Given the description of an element on the screen output the (x, y) to click on. 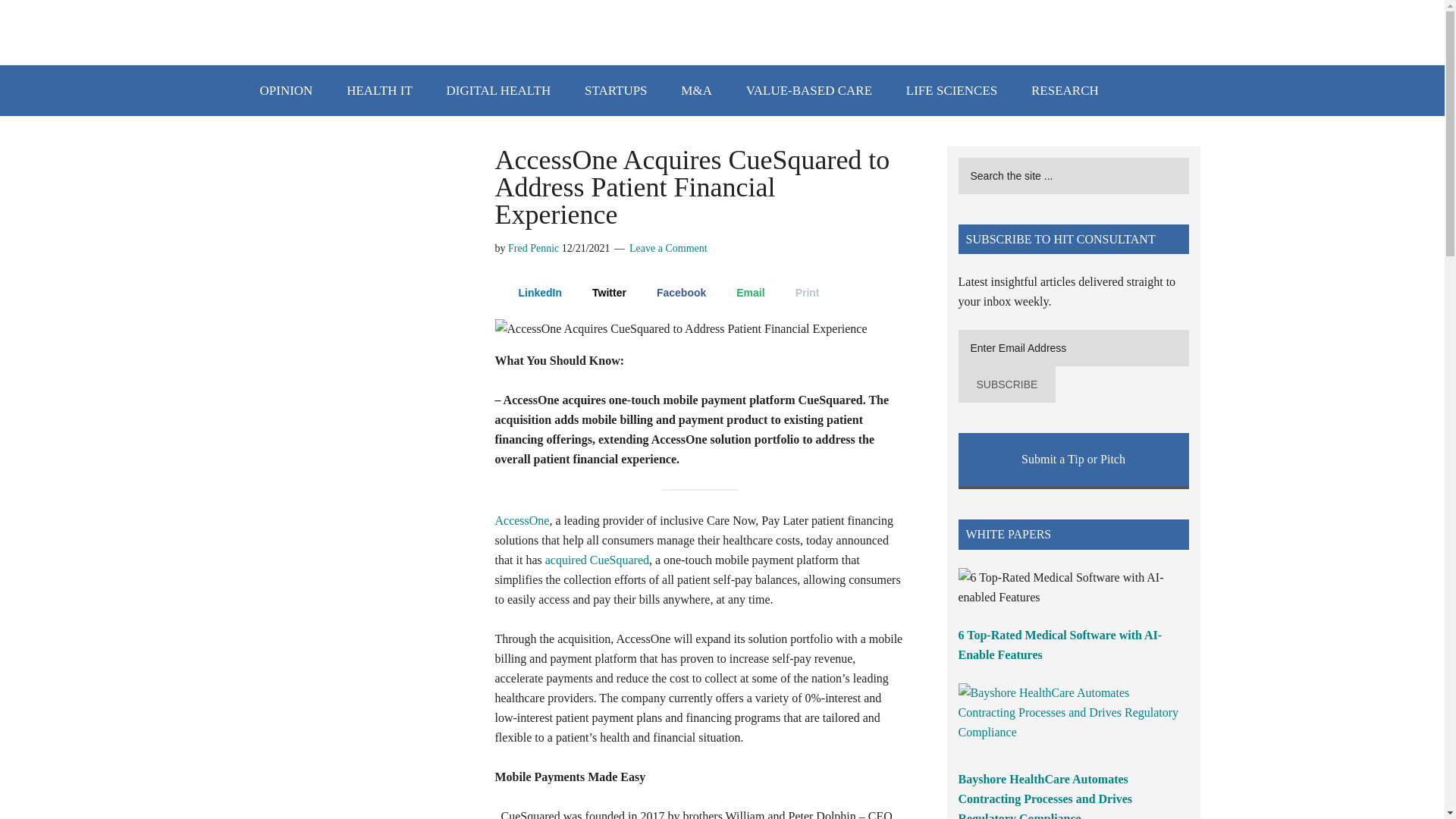
follow (1138, 19)
Leave a Comment (667, 247)
DIGITAL HEALTH (498, 90)
HEALTH IT (379, 90)
follow (1090, 19)
follow (1162, 19)
LIFE SCIENCES (951, 90)
OPINION (285, 90)
Subscribe (1007, 384)
